Given the description of an element on the screen output the (x, y) to click on. 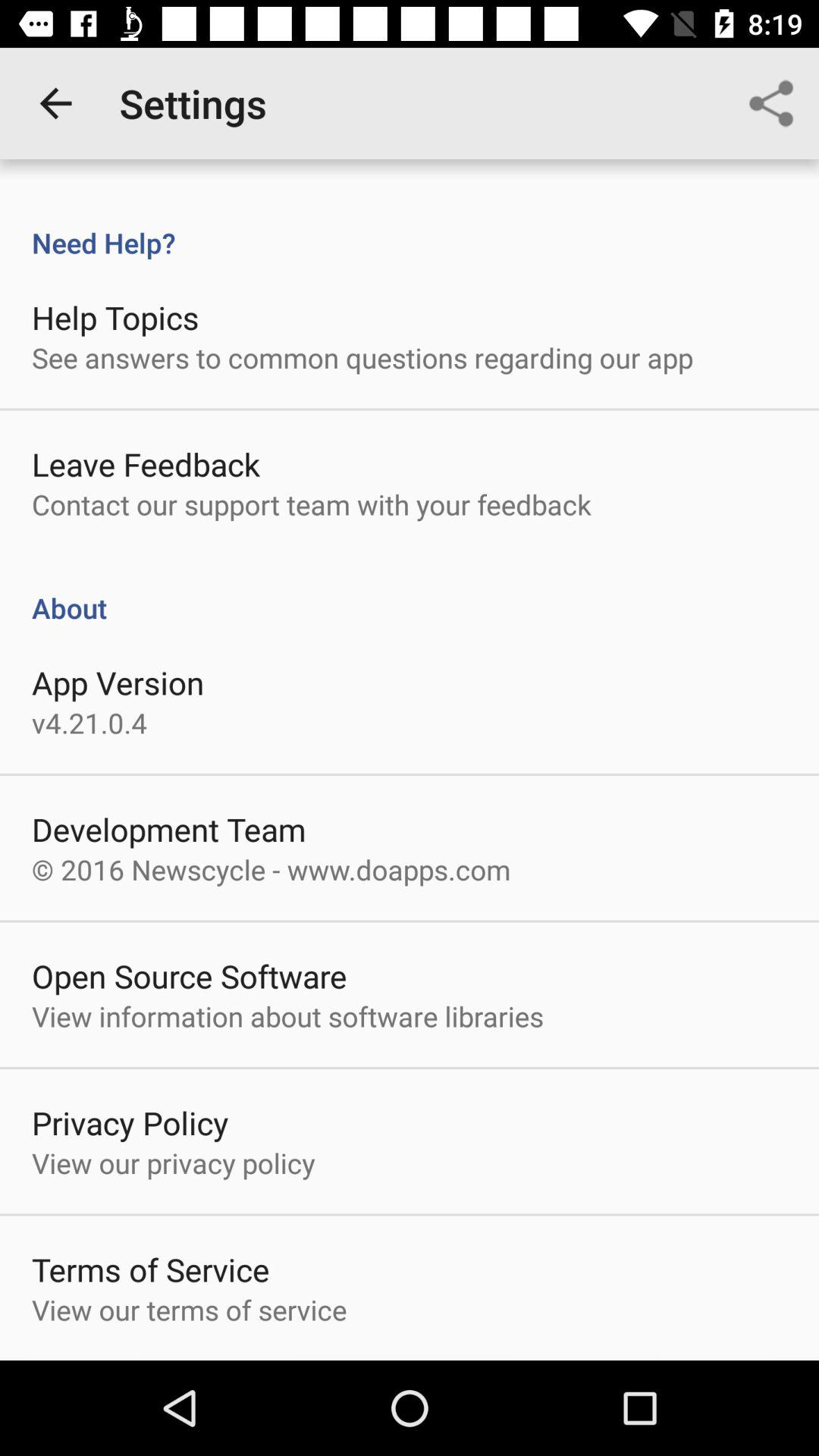
open the item above the need help? (55, 103)
